Given the description of an element on the screen output the (x, y) to click on. 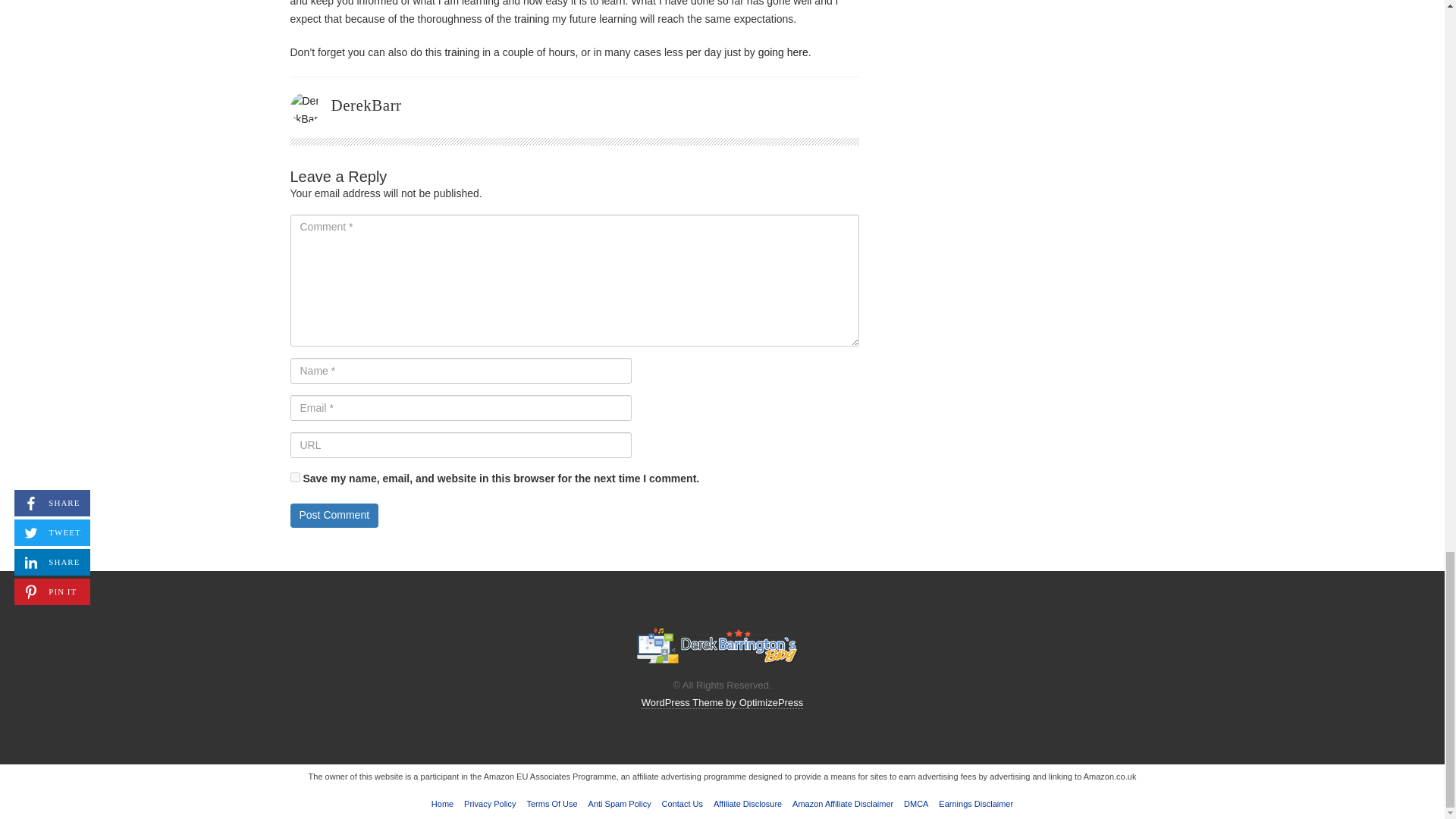
Derek Barrington (716, 646)
training (530, 19)
yes (294, 477)
going here (783, 51)
DerekBarr (365, 105)
Post Comment (333, 515)
training (461, 51)
Post Comment (333, 515)
